Given the description of an element on the screen output the (x, y) to click on. 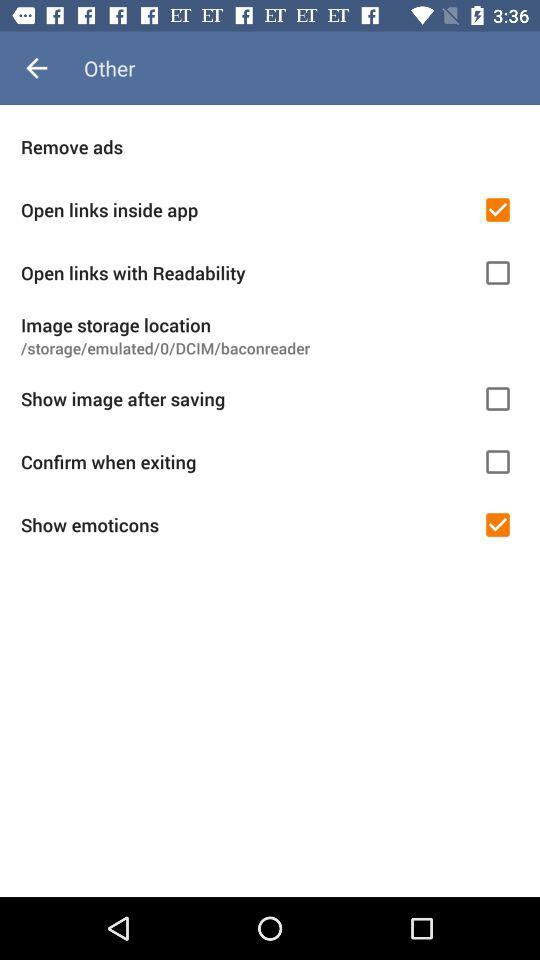
swipe until show image after icon (245, 398)
